Given the description of an element on the screen output the (x, y) to click on. 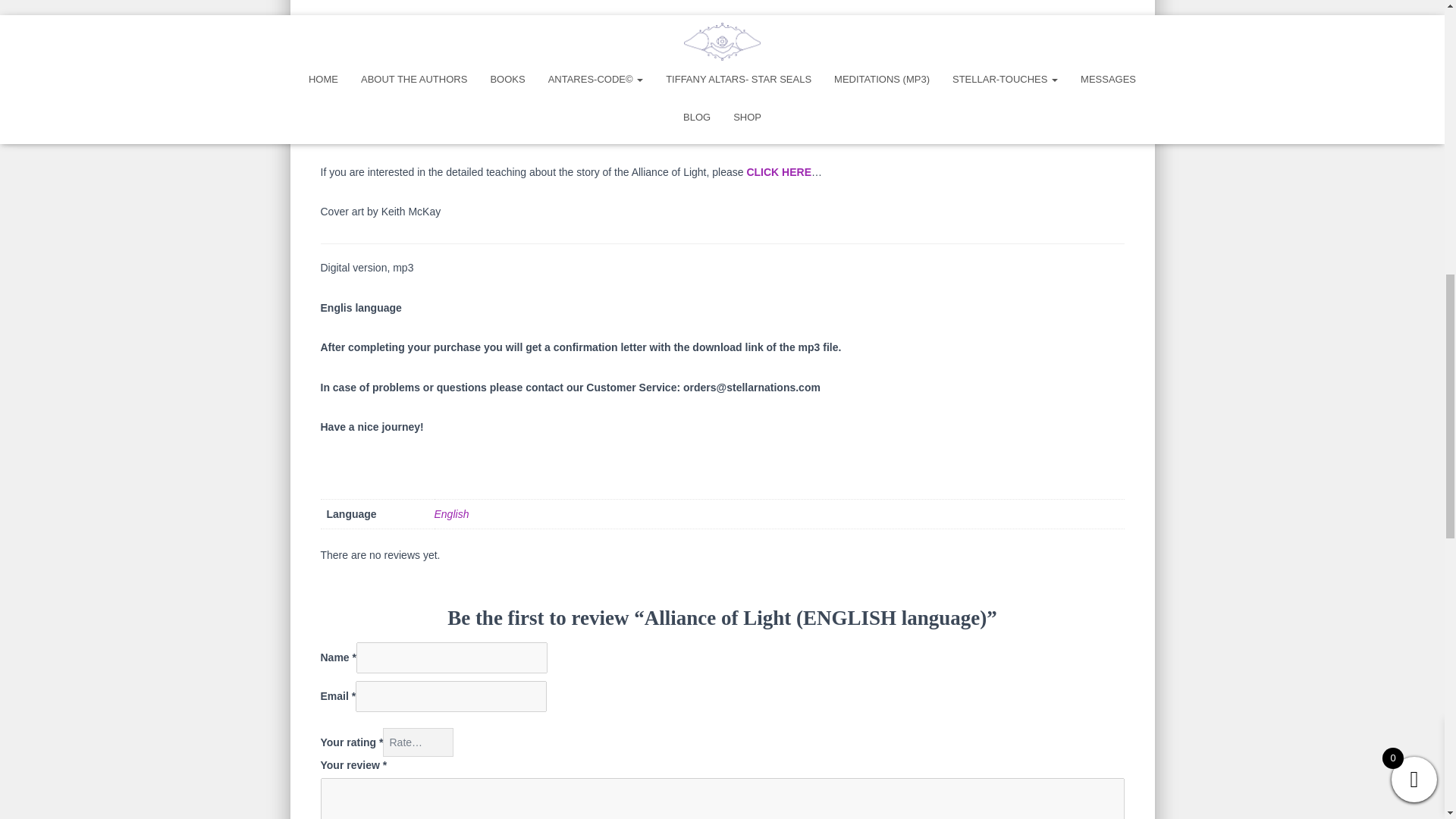
English (450, 513)
CLICK HERE (777, 172)
